Given the description of an element on the screen output the (x, y) to click on. 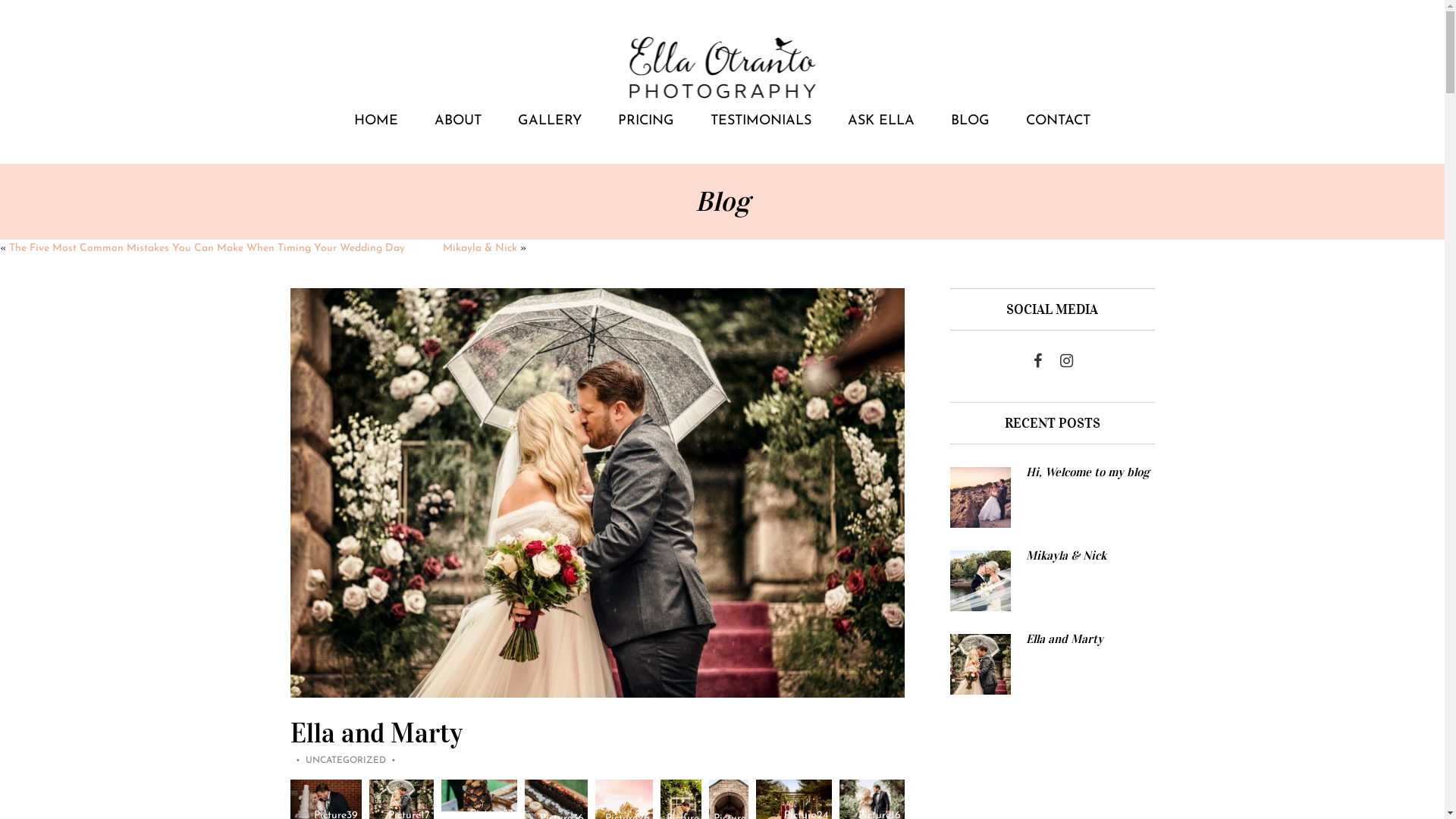
Read more Element type: text (1051, 663)
GALLERY Element type: text (549, 120)
ASK ELLA Element type: text (880, 120)
Post author Element type: hover (392, 760)
CONTACT Element type: text (1057, 120)
BLOG Element type: text (969, 120)
PRICING Element type: text (645, 120)
HOME Element type: text (375, 120)
Read more Element type: text (1051, 497)
Read more Element type: text (1051, 580)
Mikayla & Nick Element type: text (479, 248)
UNCATEGORIZED Element type: text (344, 760)
Ella and Marty Element type: text (375, 732)
TESTIMONIALS Element type: text (760, 120)
Open image in lightbox Element type: hover (479, 795)
ABOUT Element type: text (457, 120)
